Given the description of an element on the screen output the (x, y) to click on. 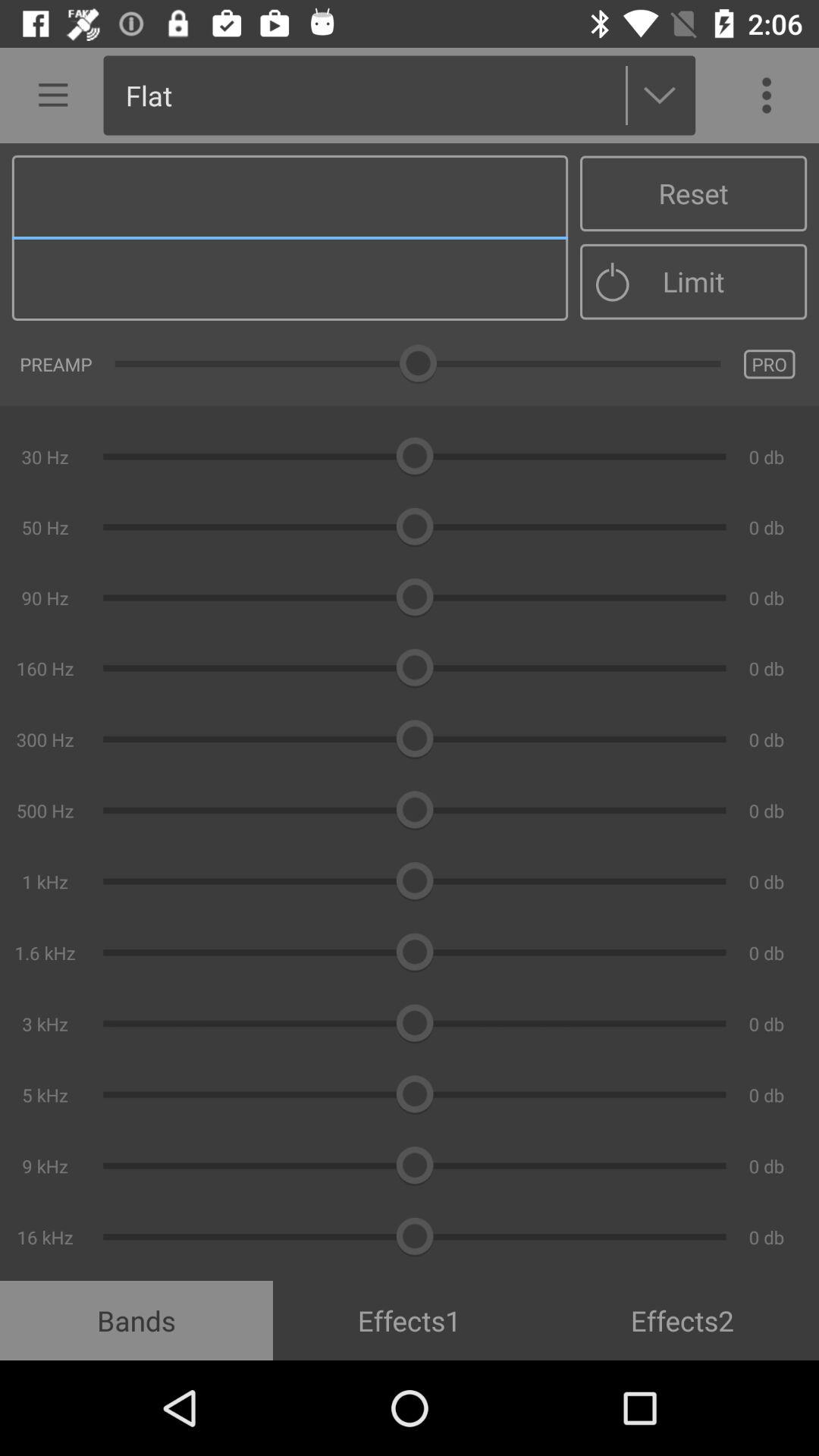
swipe to the reset item (693, 193)
